Given the description of an element on the screen output the (x, y) to click on. 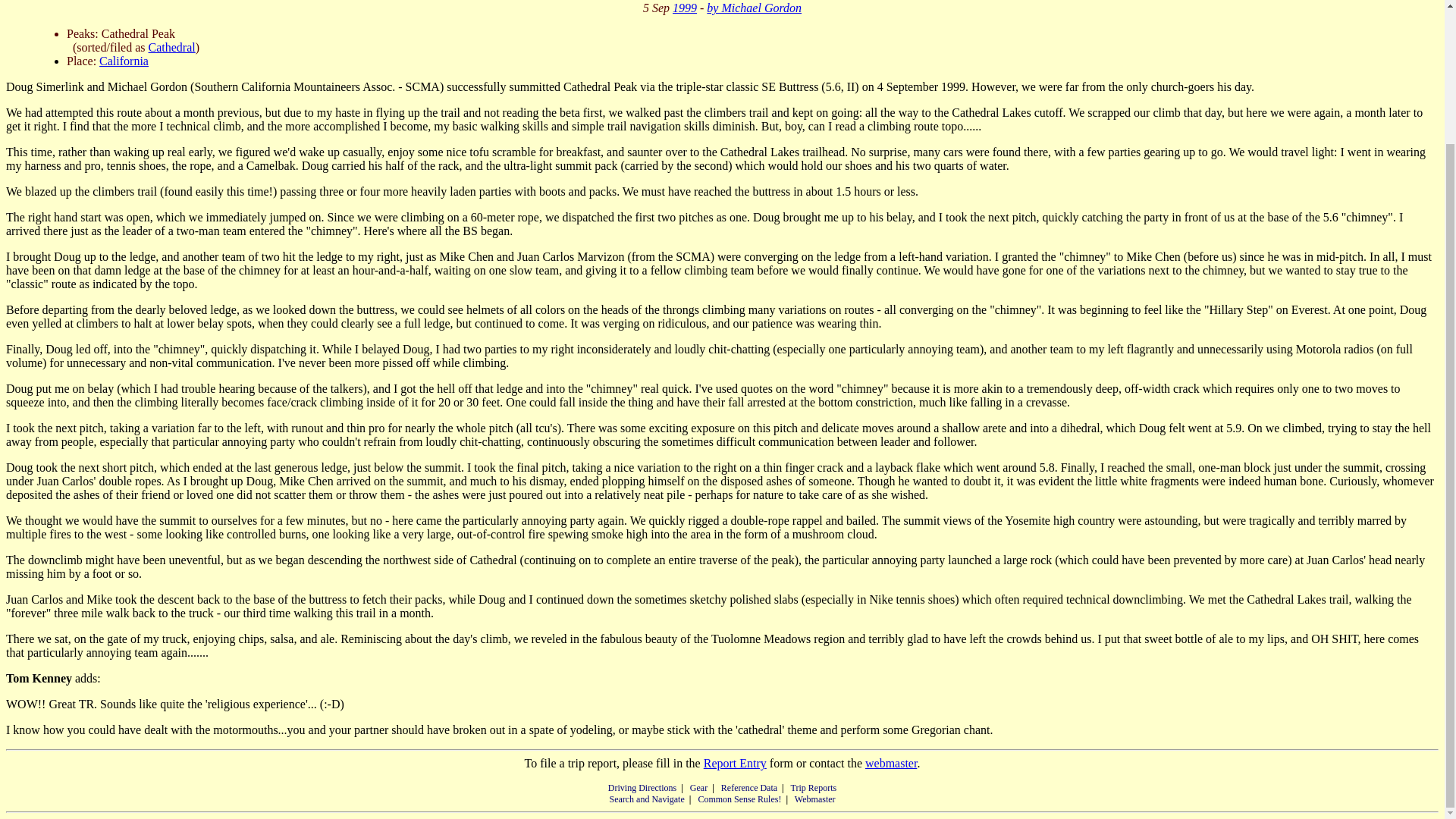
Driving Directions (642, 787)
Common Sense Rules! (738, 798)
Webmaster (814, 798)
webmaster (890, 762)
Search and Navigate (646, 798)
Report Entry (735, 762)
1999 (684, 7)
Trip Reports (813, 787)
Cathedral (171, 47)
Gear (698, 787)
California (123, 60)
by Michael Gordon (754, 7)
Reference Data (748, 787)
